Given the description of an element on the screen output the (x, y) to click on. 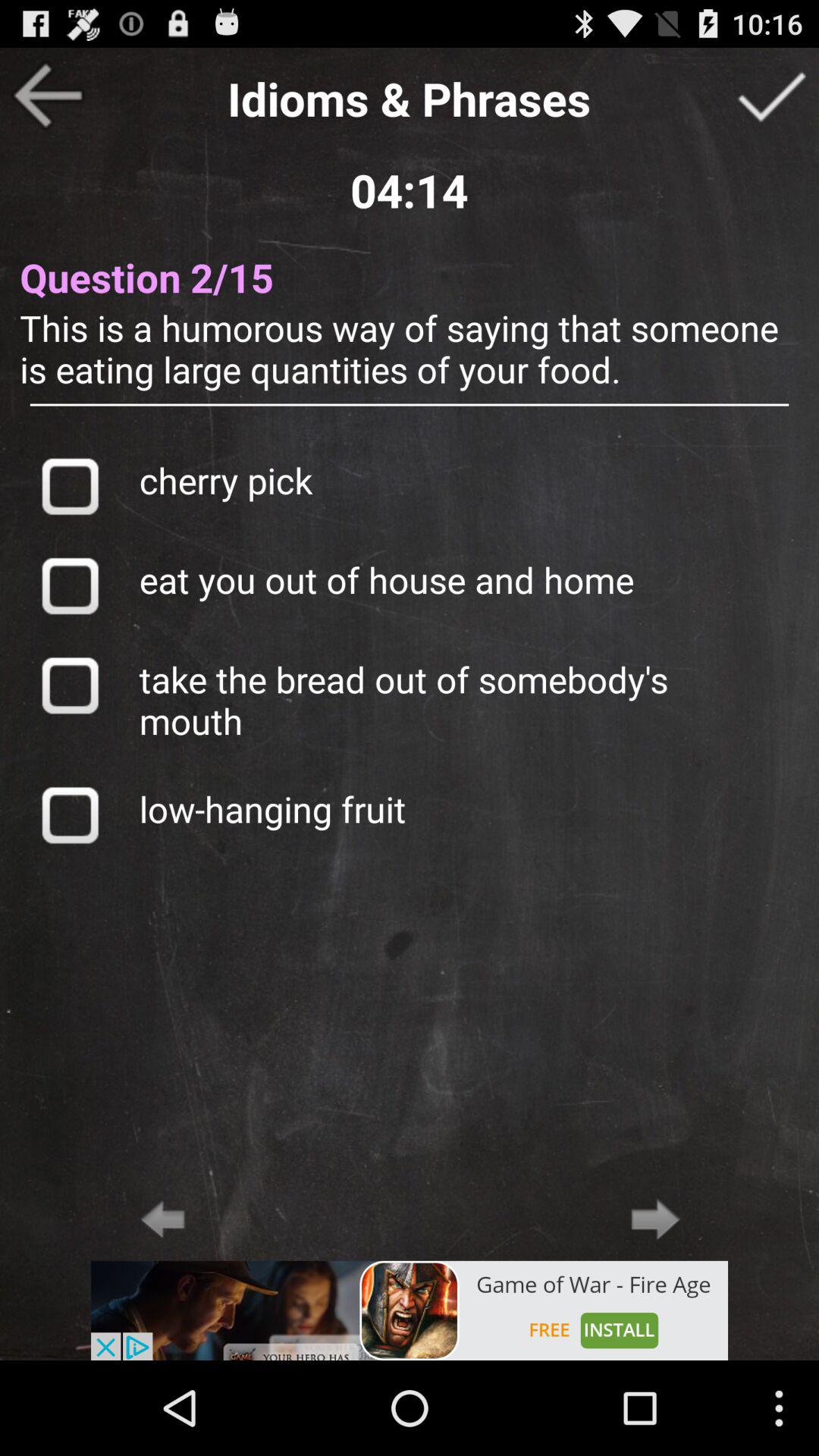
selects answer (69, 485)
